Given the description of an element on the screen output the (x, y) to click on. 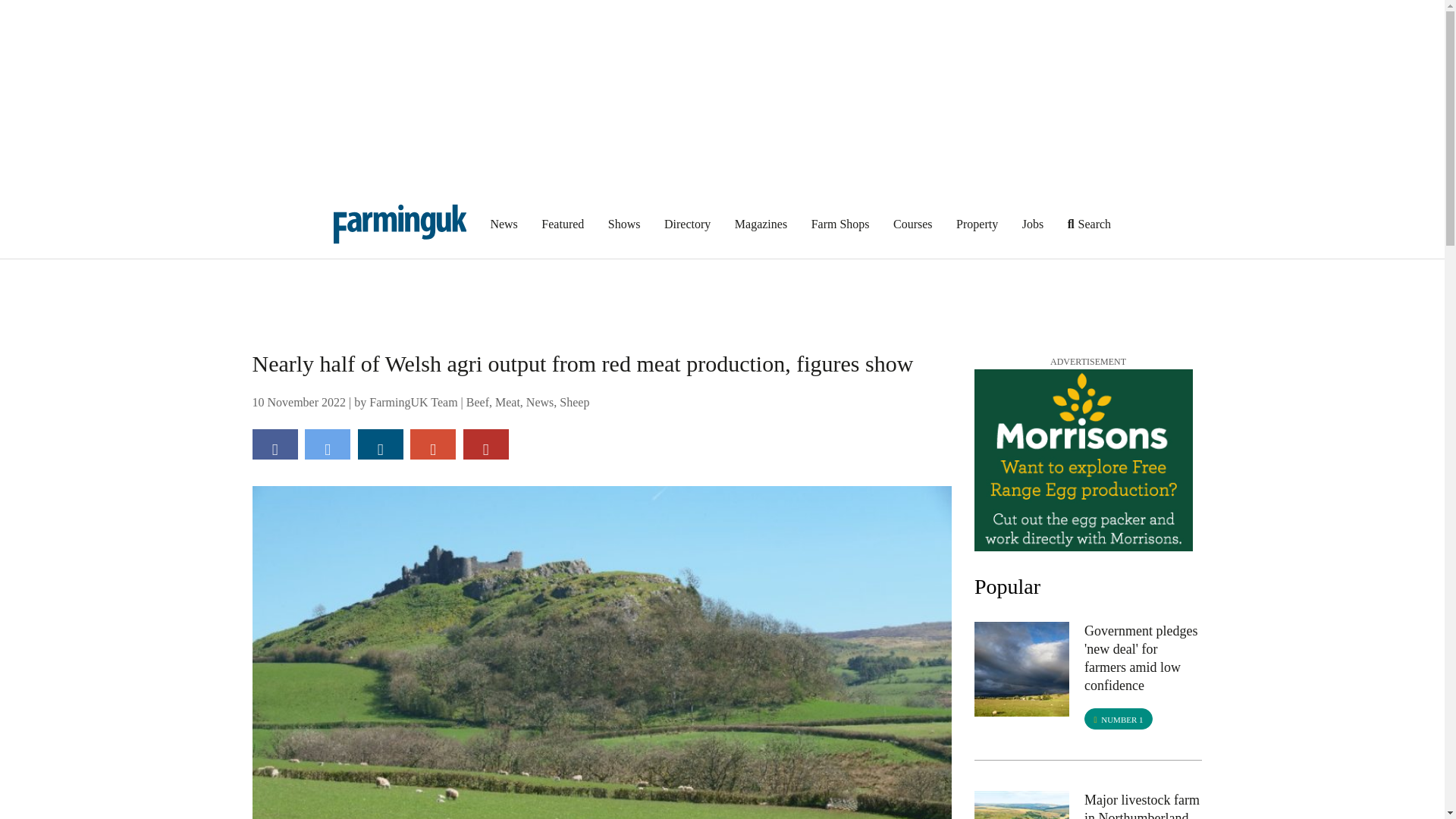
Featured (562, 223)
Search (1088, 223)
Courses (913, 223)
Farm Shops (839, 223)
Share on Twitter (327, 444)
Directory (686, 223)
Property (976, 223)
Magazines (761, 223)
Print (485, 444)
Share by Email (432, 444)
Share on Facebook (274, 444)
3rd party ad content (722, 293)
